Given the description of an element on the screen output the (x, y) to click on. 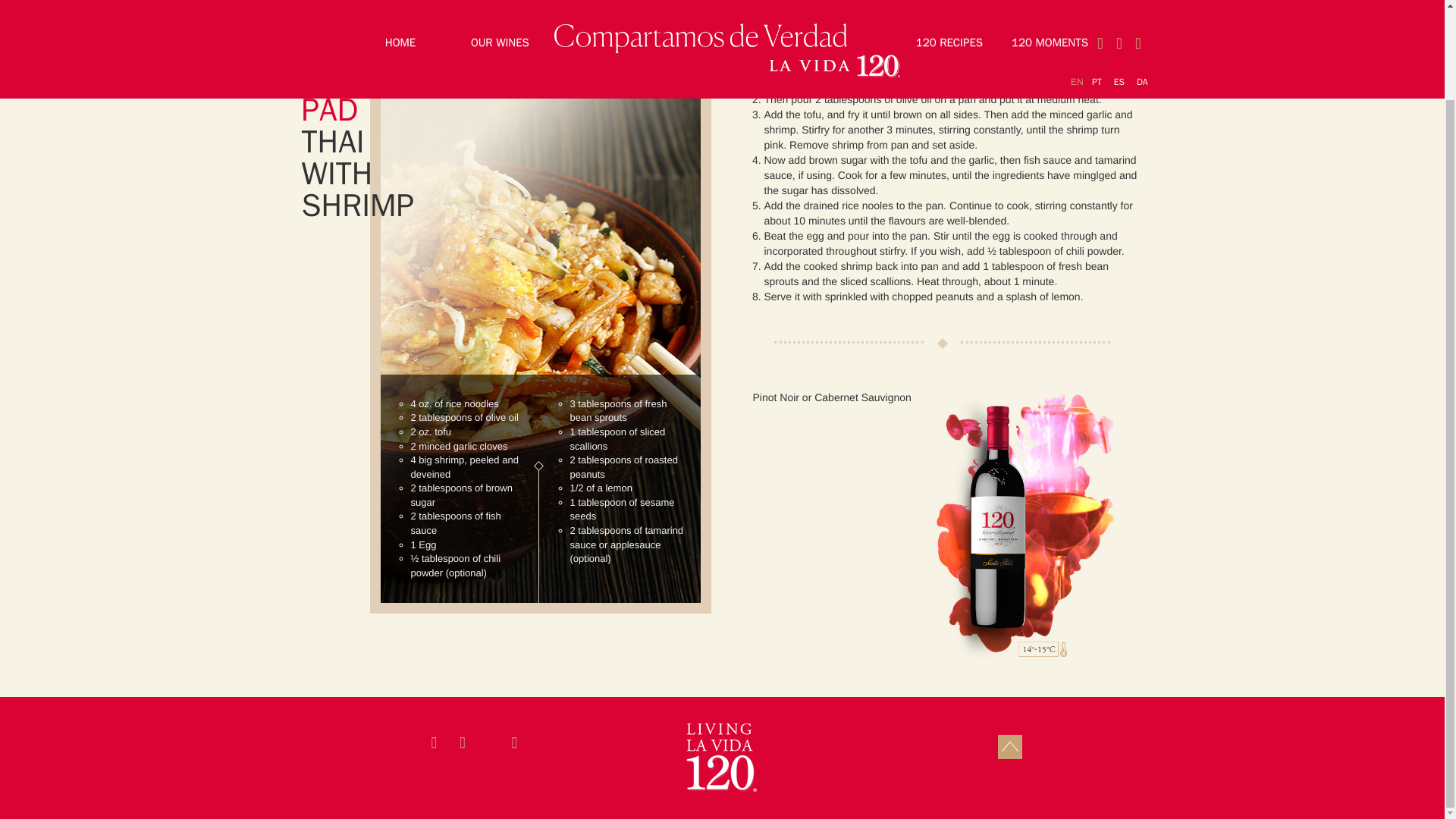
logo (721, 757)
subir (1010, 746)
